Given the description of an element on the screen output the (x, y) to click on. 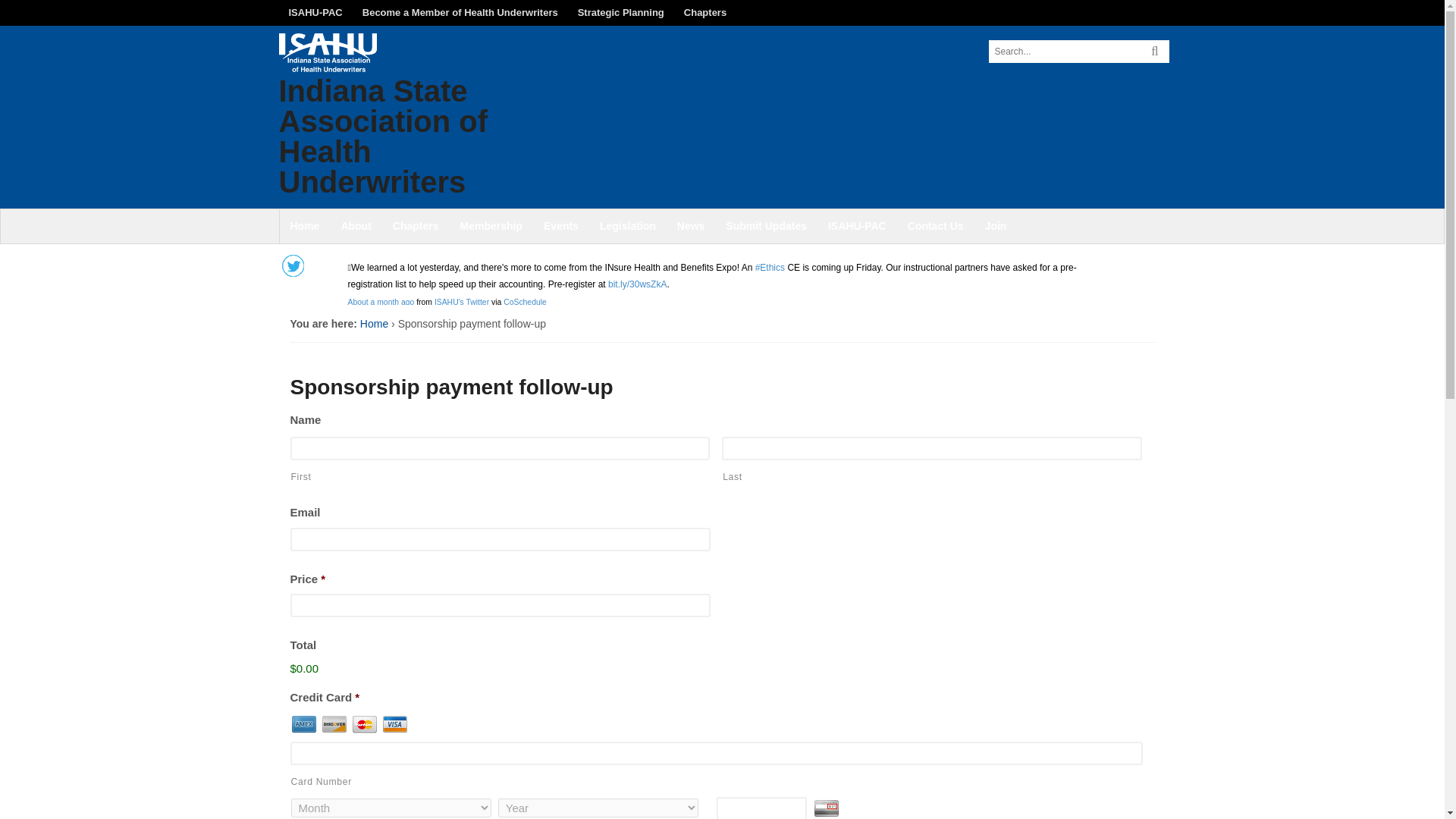
Become a Member of Health Underwriters (459, 12)
News (691, 226)
About (355, 226)
ISAHU (461, 302)
Indiana State Association of Health Underwriters (383, 136)
Chapters (415, 226)
Strategic Planning (620, 12)
Events (560, 226)
Chapters (705, 12)
Legislation (627, 226)
